Given the description of an element on the screen output the (x, y) to click on. 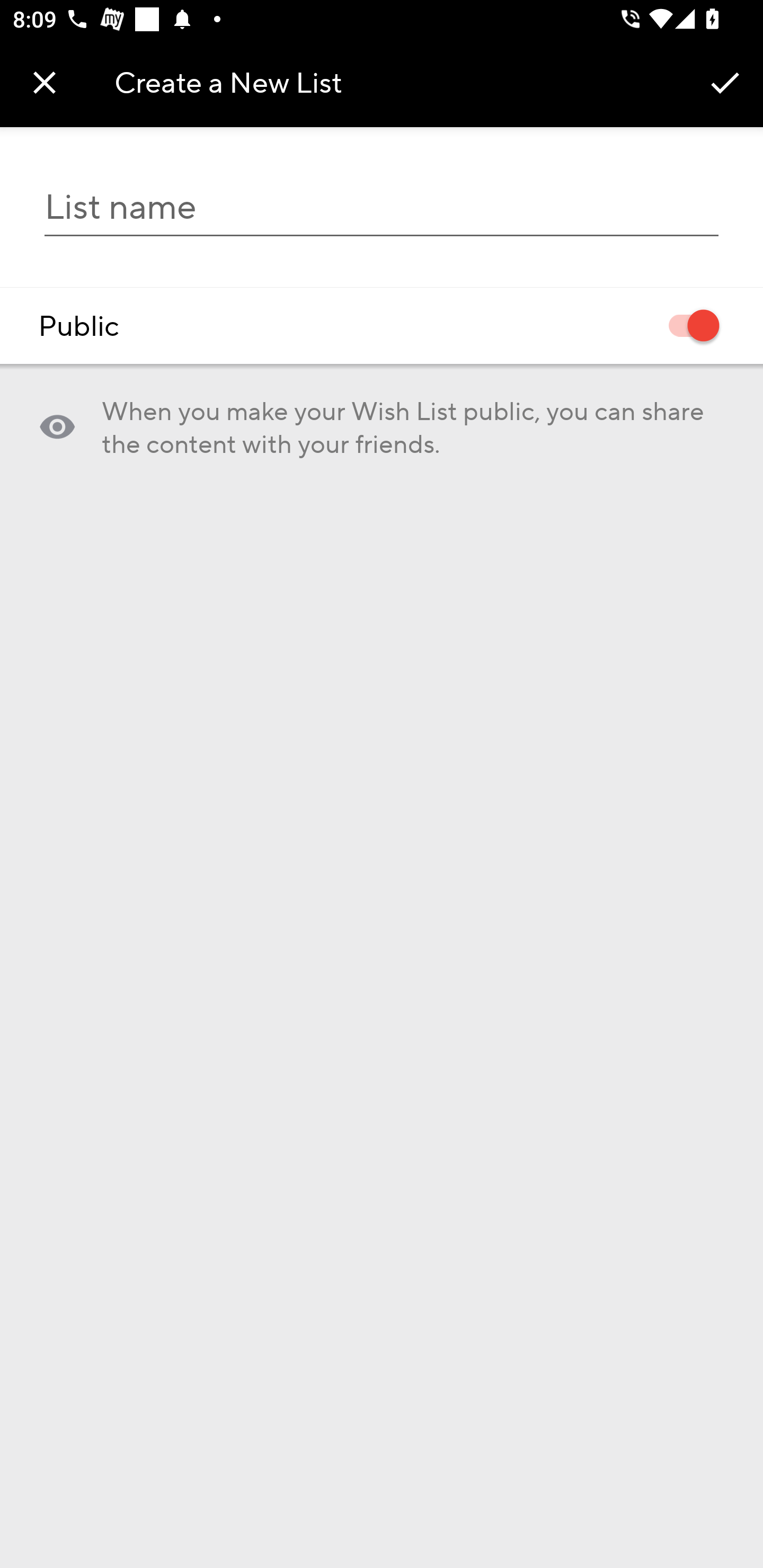
Navigate up (44, 82)
Done (724, 81)
List name (381, 206)
